Given the description of an element on the screen output the (x, y) to click on. 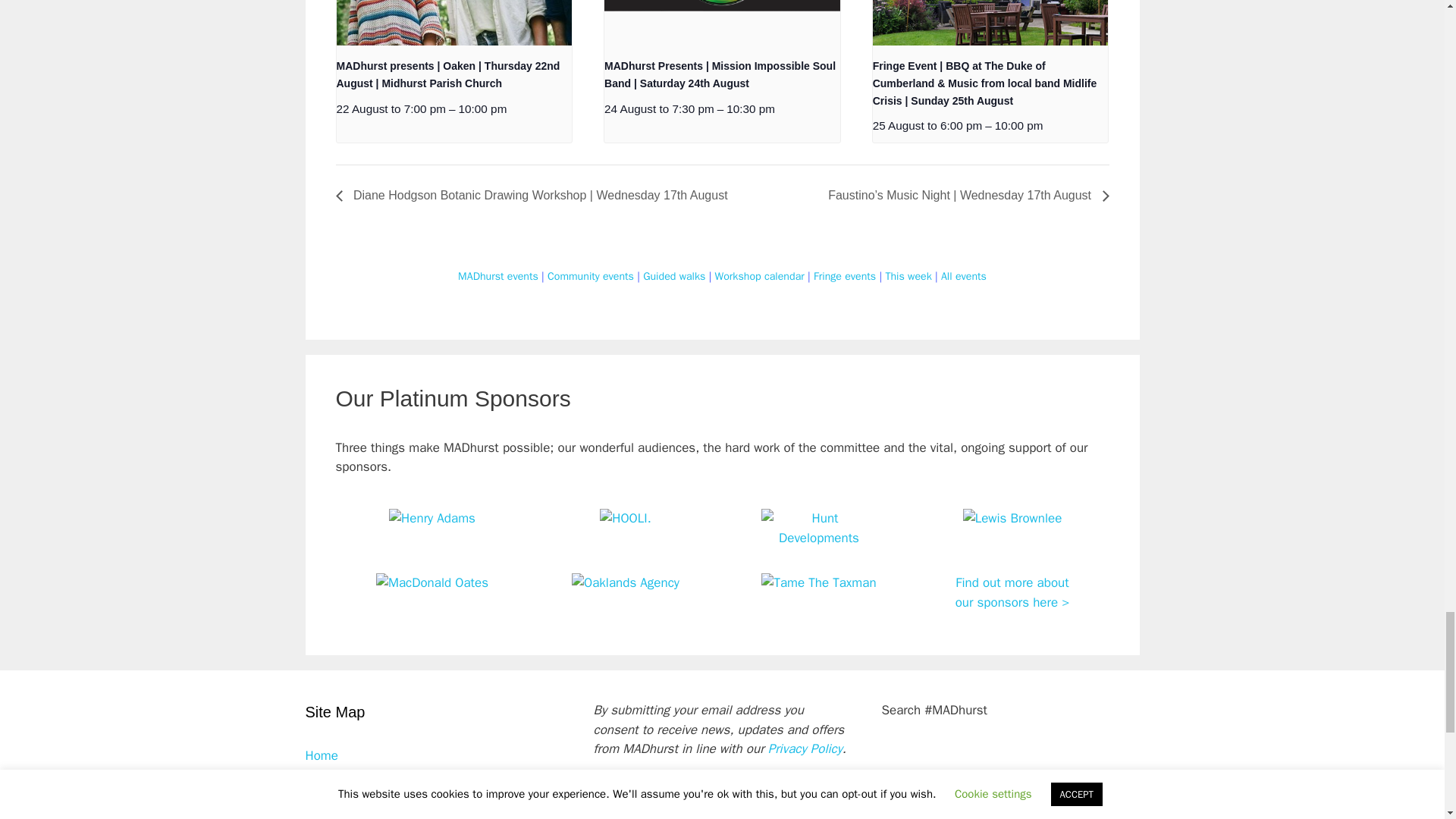
Hunt Developments (819, 537)
Lewis Brownlee (1012, 518)
Henry Adams (432, 518)
Oaklands Agency (625, 582)
MacDonald Oates (431, 582)
Tame The Taxman (818, 582)
HOOLI. (624, 518)
